Given the description of an element on the screen output the (x, y) to click on. 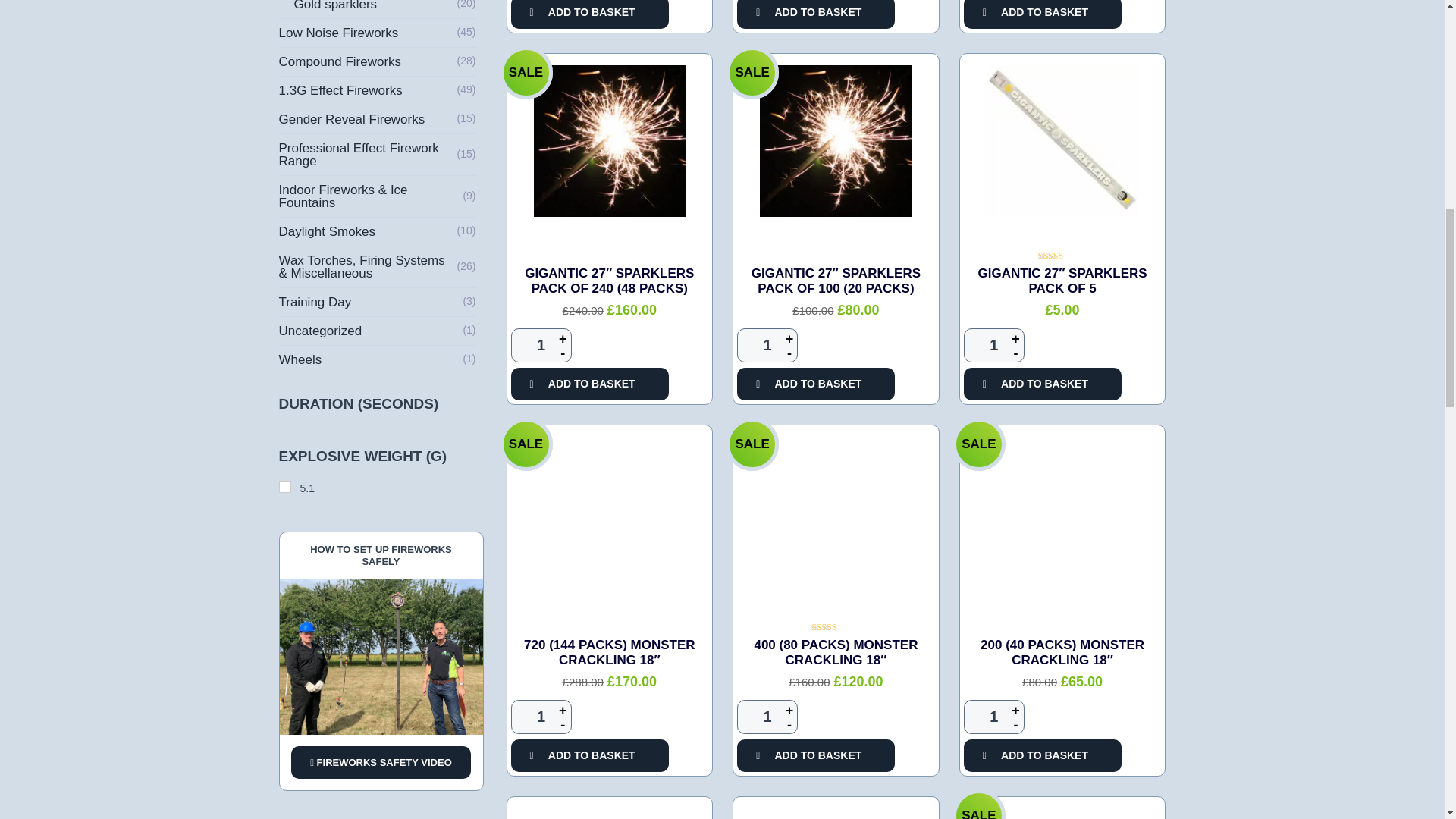
Qty (994, 345)
Qty (541, 345)
- (563, 725)
- (563, 354)
1 (766, 345)
- (1016, 354)
- (788, 354)
Qty (766, 345)
Qty (994, 716)
Qty (766, 716)
1 (994, 345)
Qty (541, 716)
1 (541, 345)
